Given the description of an element on the screen output the (x, y) to click on. 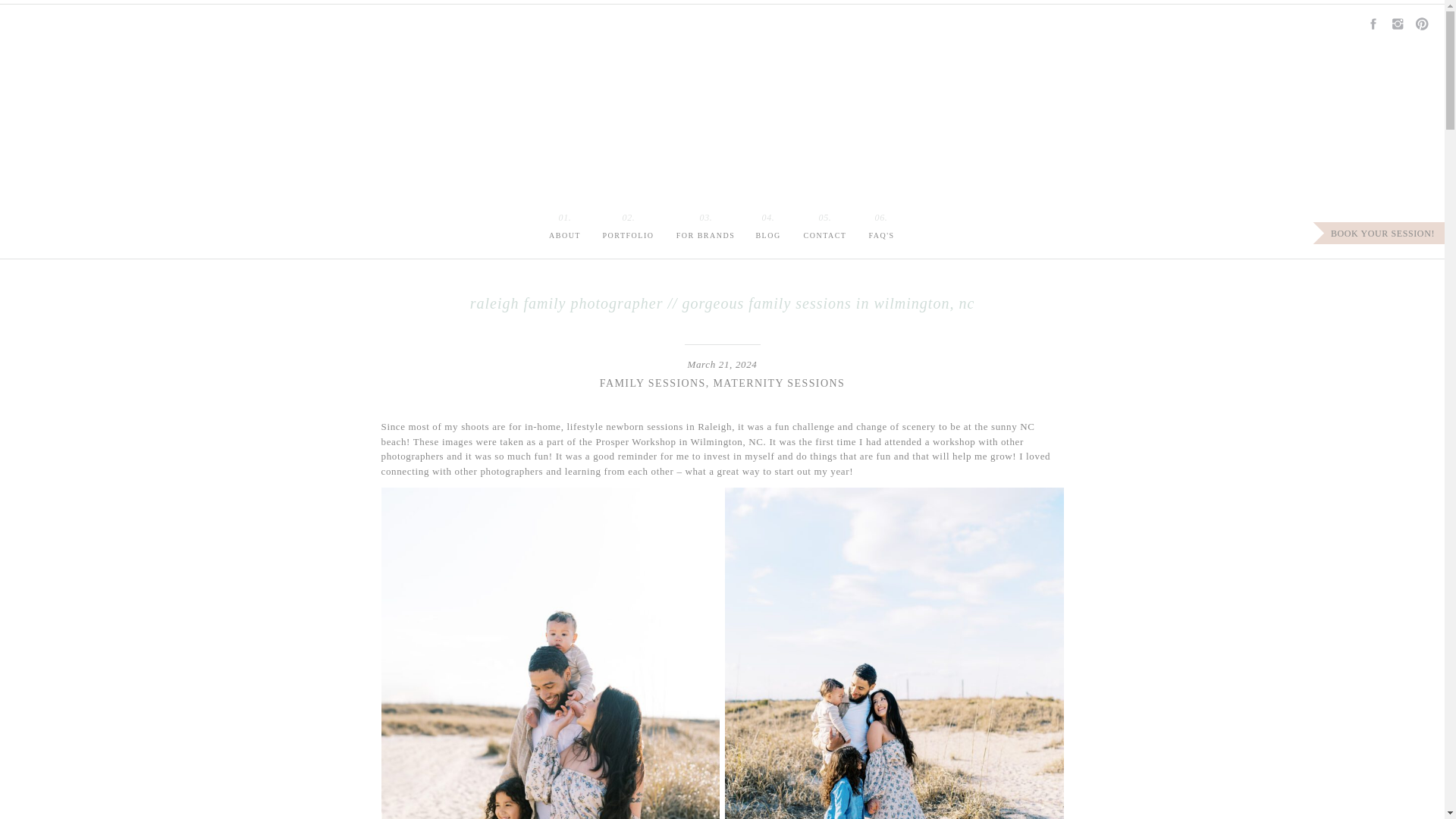
04. (767, 219)
PORTFOLIO (627, 234)
01. (563, 216)
FAMILY SESSIONS (652, 383)
MATERNITY SESSIONS (778, 383)
BLOG (767, 234)
FOR BRANDS (705, 234)
05. (825, 218)
02. (628, 216)
CONTACT (825, 234)
